Given the description of an element on the screen output the (x, y) to click on. 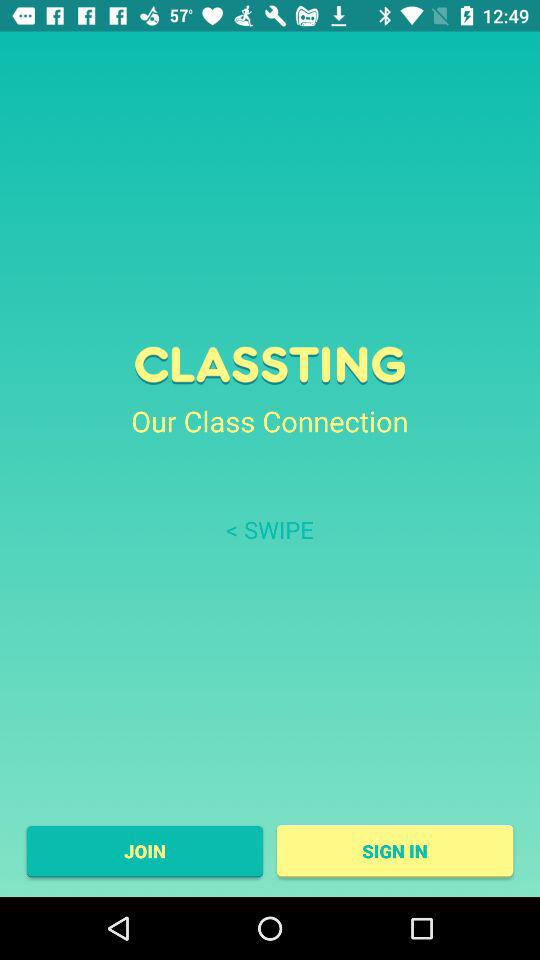
choose icon next to the join item (394, 851)
